Given the description of an element on the screen output the (x, y) to click on. 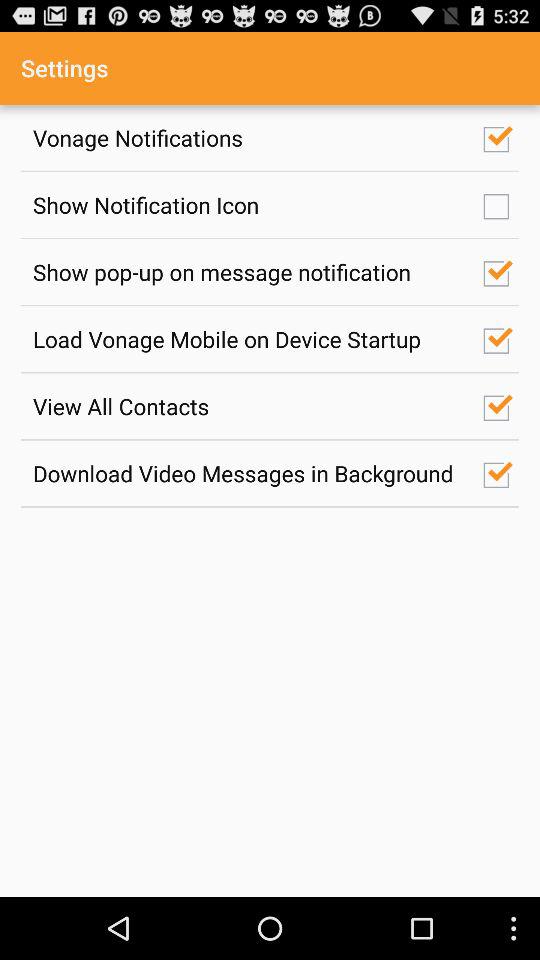
turn on item below the view all contacts icon (247, 473)
